Given the description of an element on the screen output the (x, y) to click on. 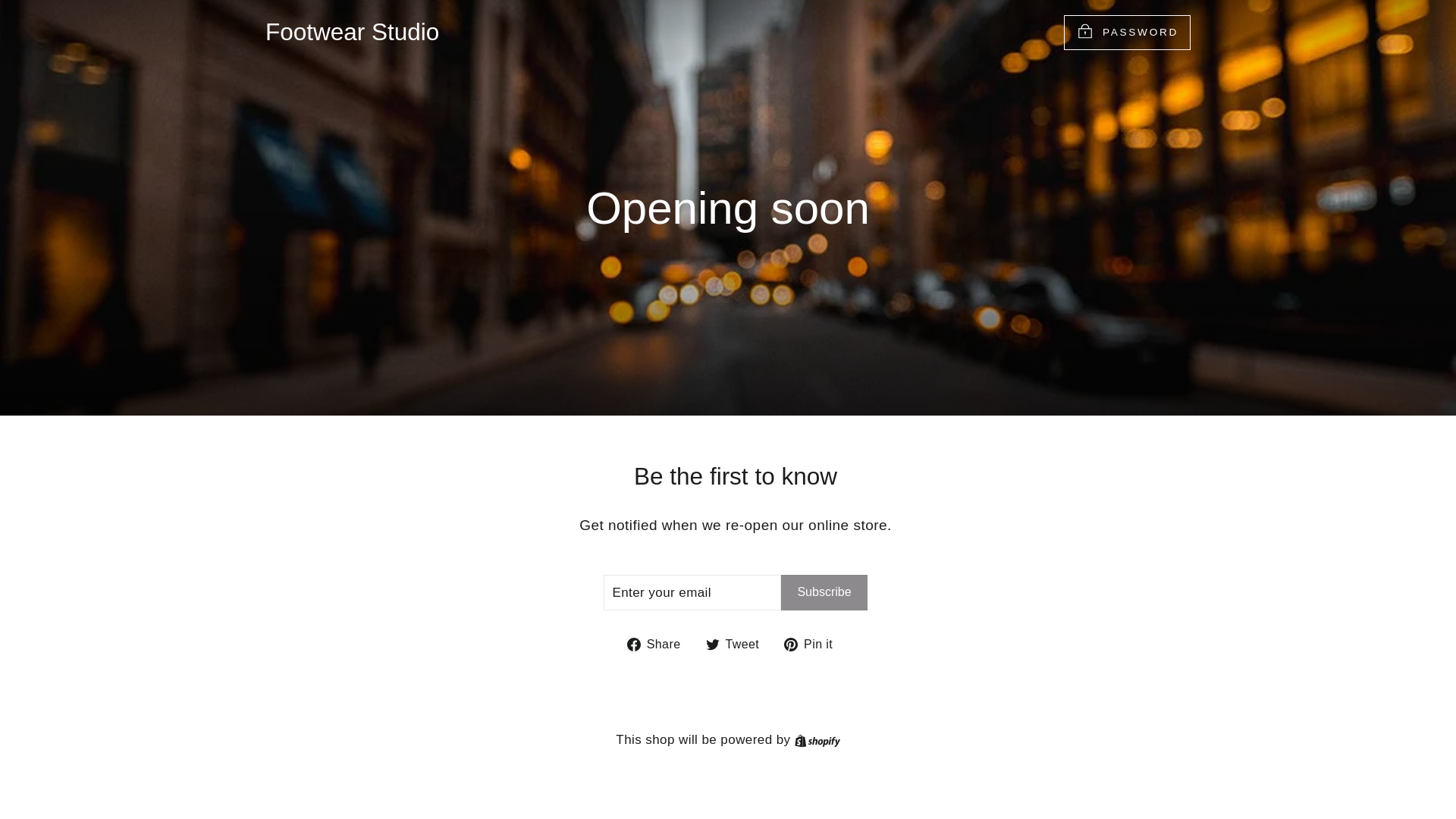
Pin on Pinterest (814, 643)
PASSWORD (1127, 32)
twitter (711, 644)
Shopify logo (817, 740)
Tweet on Twitter (660, 643)
Share on Facebook (737, 643)
Subscribe (814, 643)
Create your own online store with Shopify (737, 643)
